Given the description of an element on the screen output the (x, y) to click on. 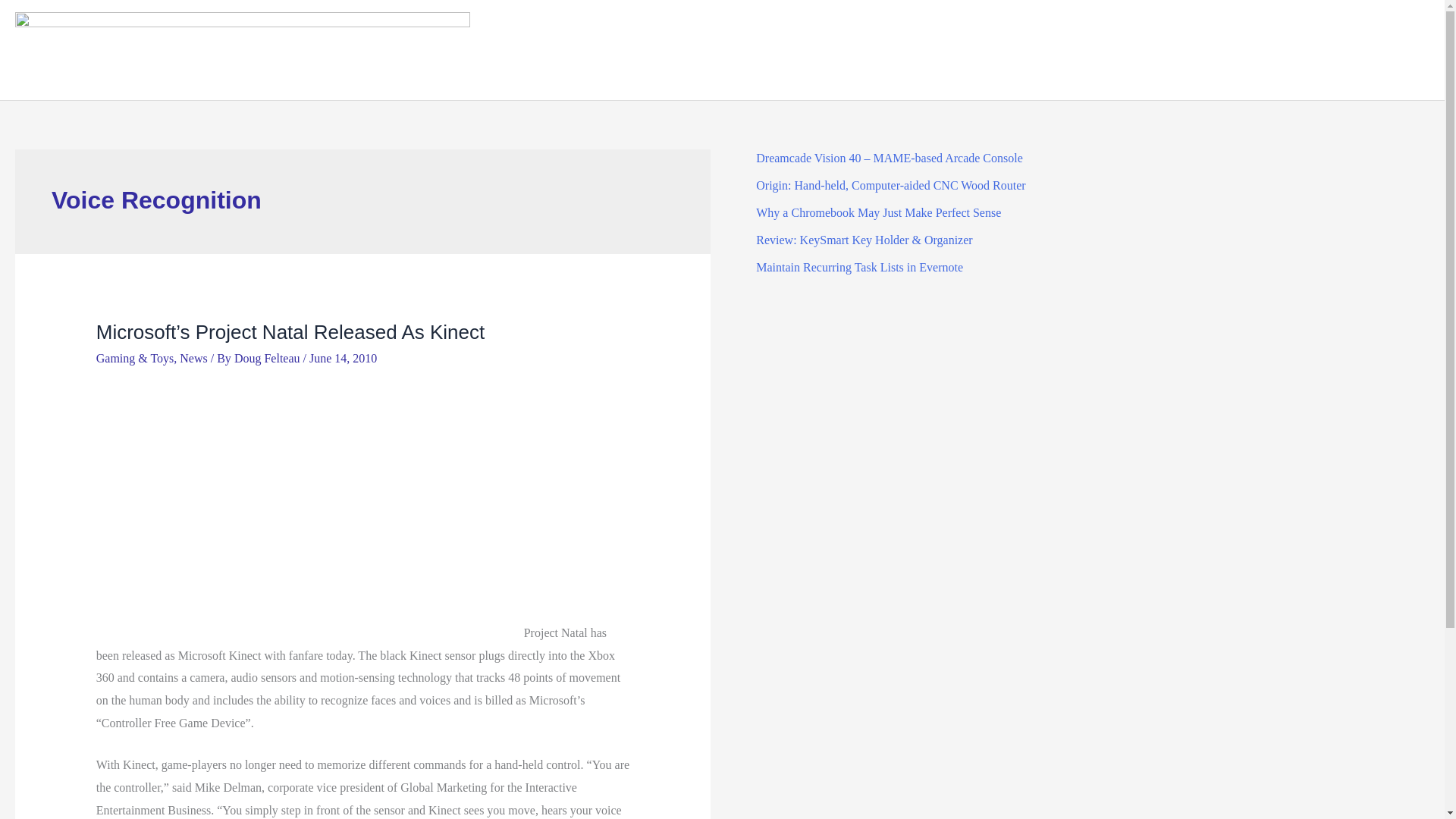
Maintain Recurring Task Lists in Evernote (858, 267)
View all posts by Doug Felteau (268, 358)
Origin: Hand-held, Computer-aided CNC Wood Router (890, 185)
News (192, 358)
Doug Felteau (268, 358)
Why a Chromebook May Just Make Perfect Sense (878, 212)
